Given the description of an element on the screen output the (x, y) to click on. 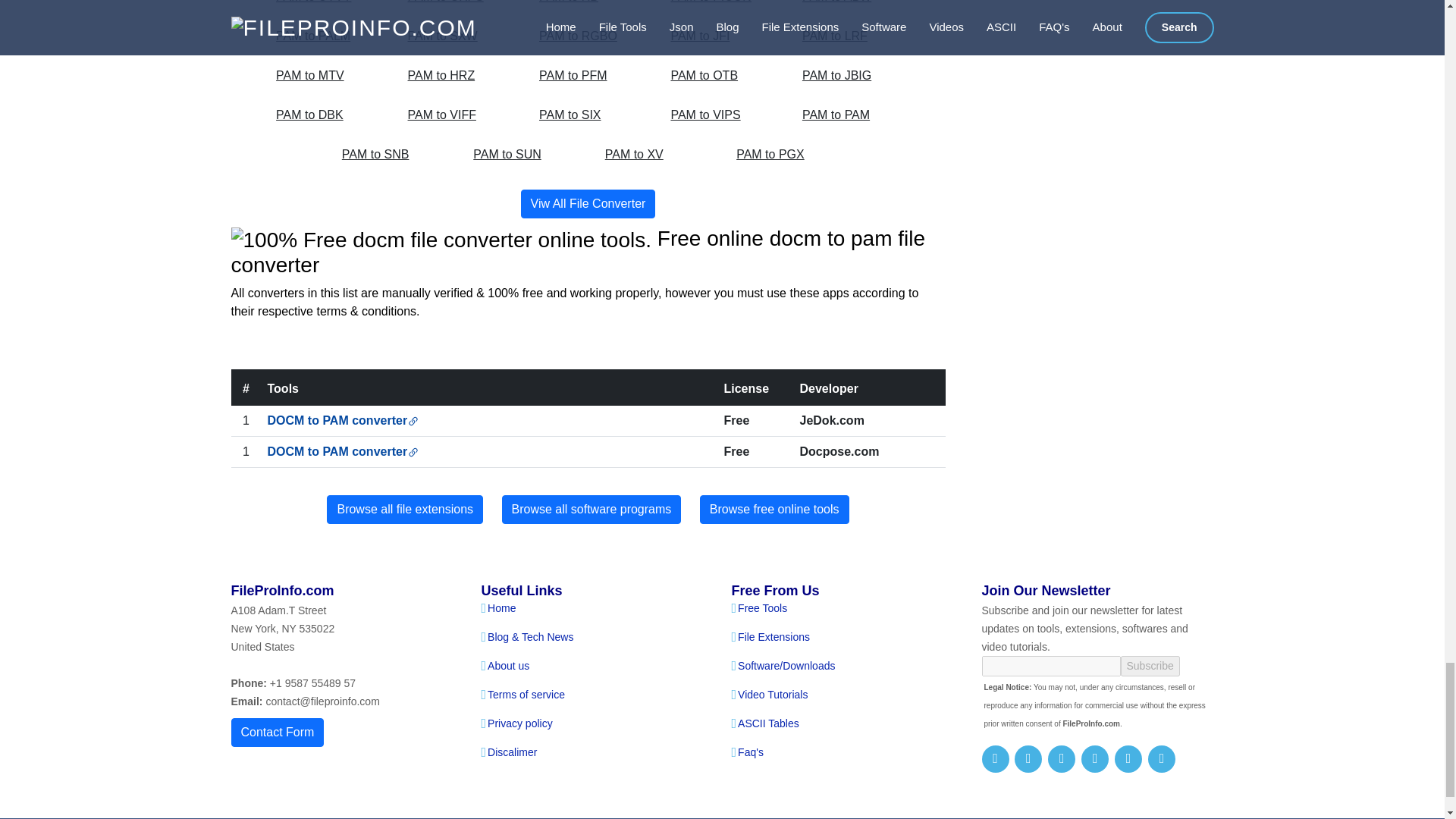
Subscribe (1150, 666)
